Given the description of an element on the screen output the (x, y) to click on. 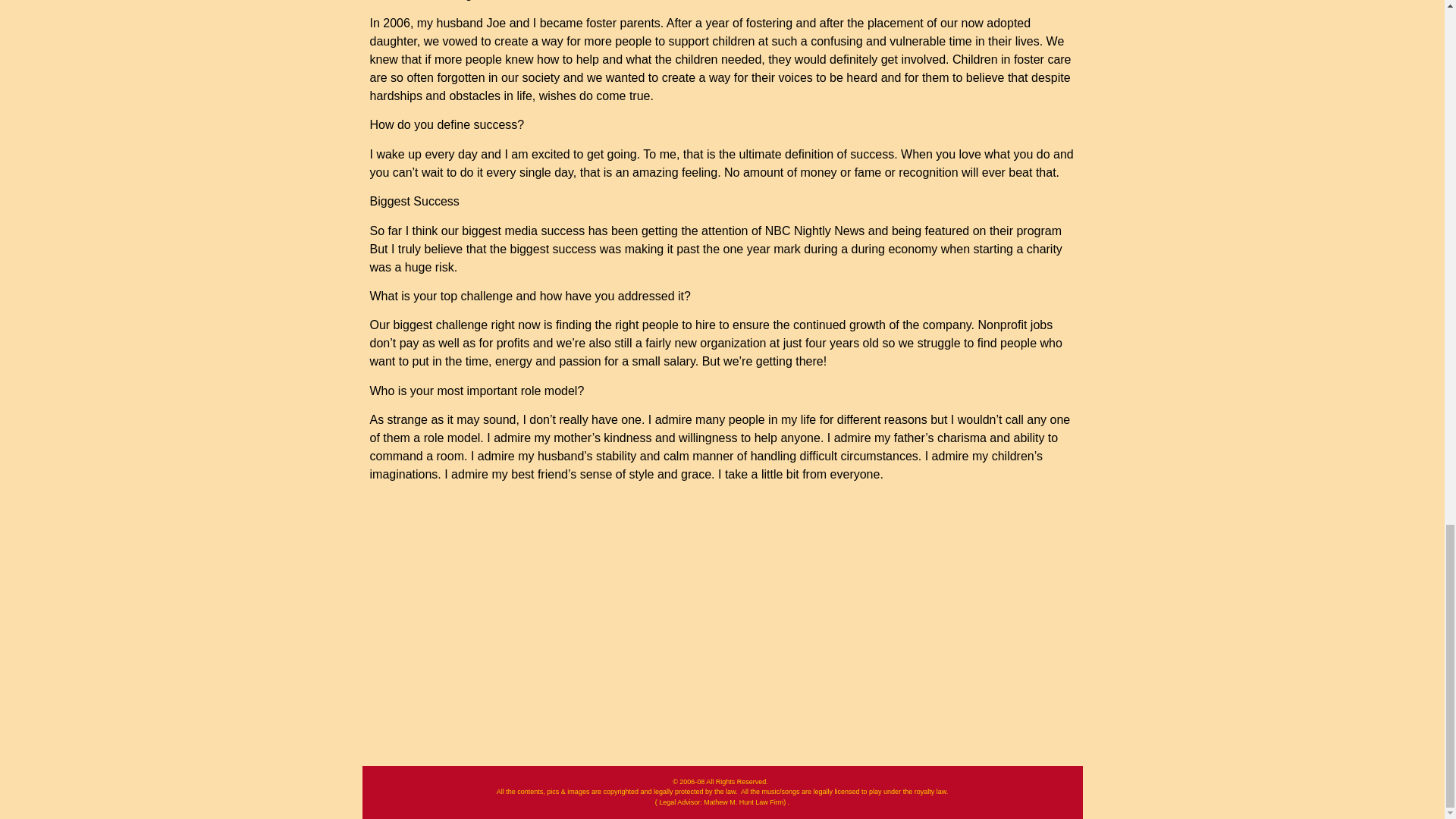
CNN Hero: Danielle Gletow (722, 627)
